Given the description of an element on the screen output the (x, y) to click on. 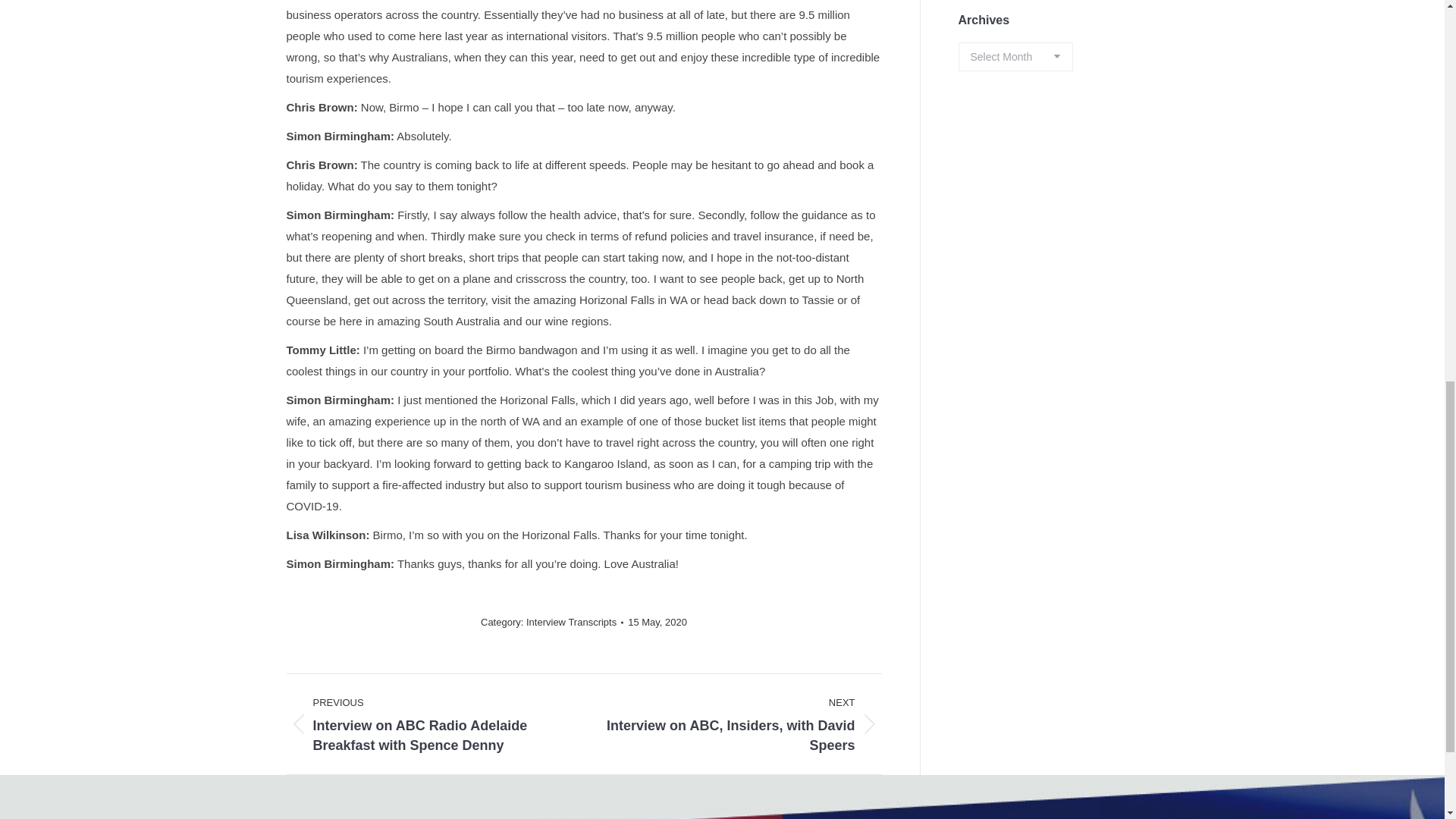
3:38 pm (657, 621)
